Given the description of an element on the screen output the (x, y) to click on. 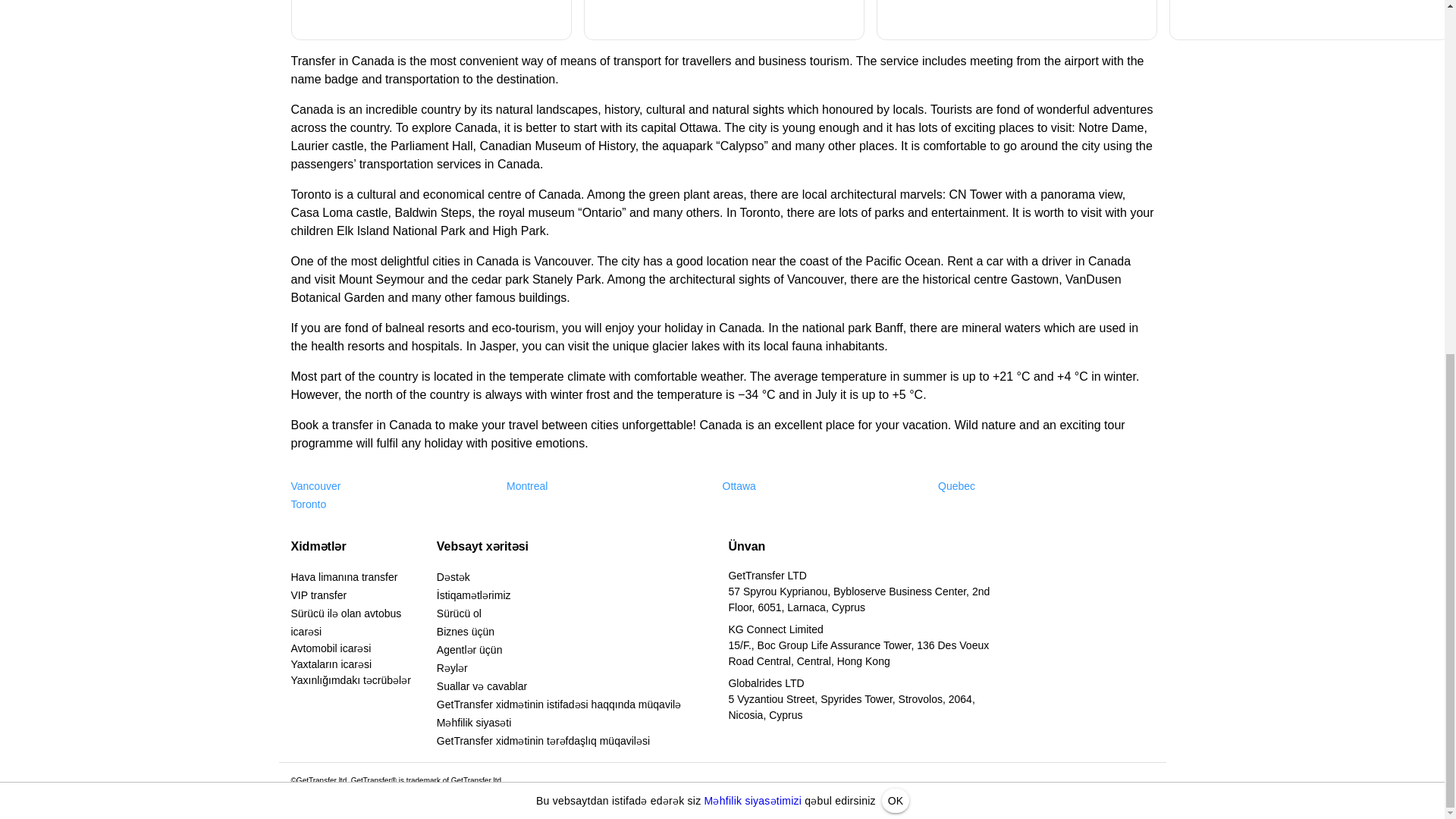
Montreal (526, 485)
VIP transfer (319, 594)
OK (895, 181)
Quebec (956, 485)
Vancouver (315, 485)
Toronto (308, 503)
Ottawa (738, 485)
